Given the description of an element on the screen output the (x, y) to click on. 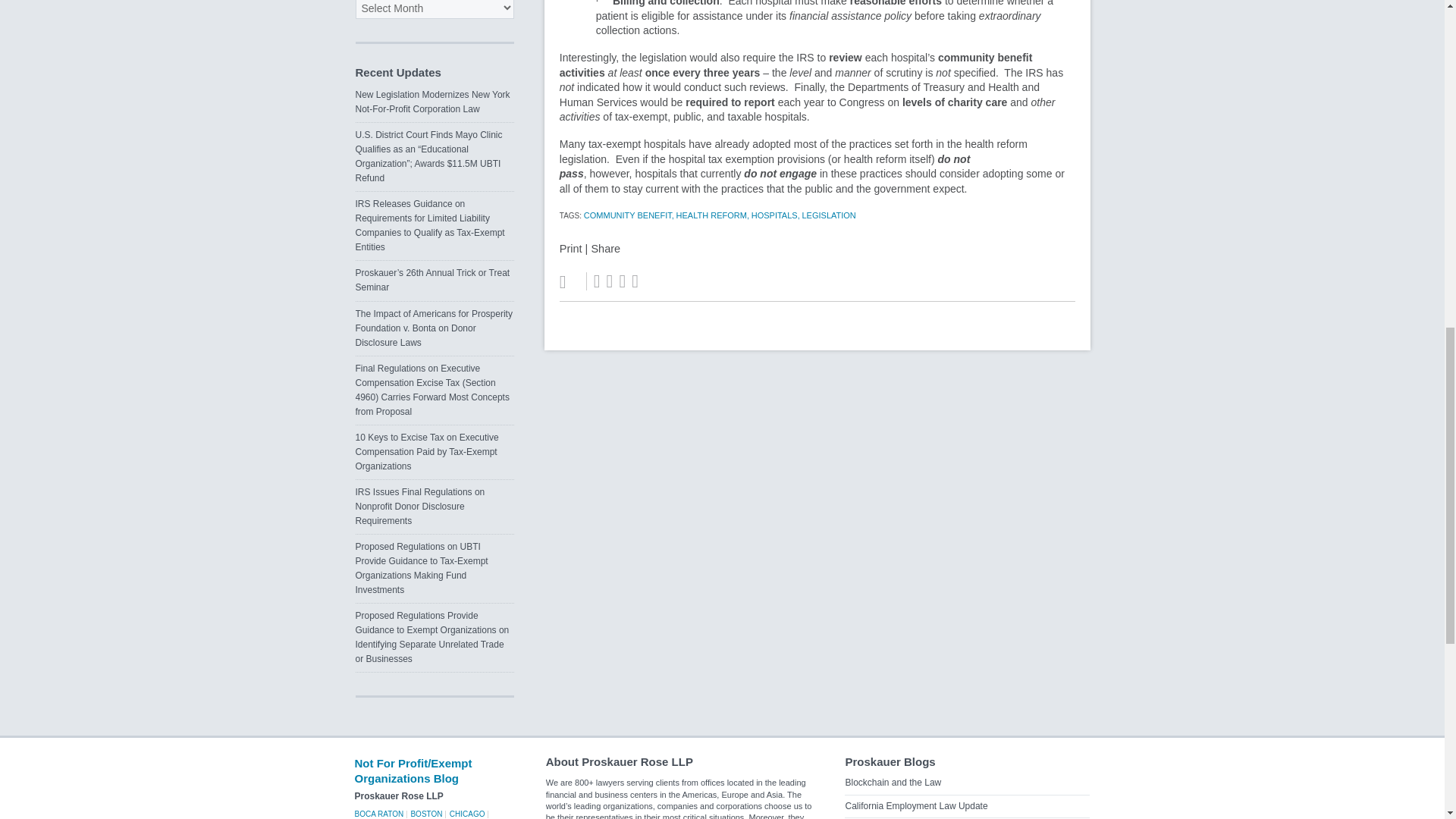
HOSPITALS, (775, 215)
HEALTH REFORM, (713, 215)
Select a month to navigate to that archive. (434, 9)
LEGISLATION (829, 215)
COMMUNITY BENEFIT, (628, 215)
